Given the description of an element on the screen output the (x, y) to click on. 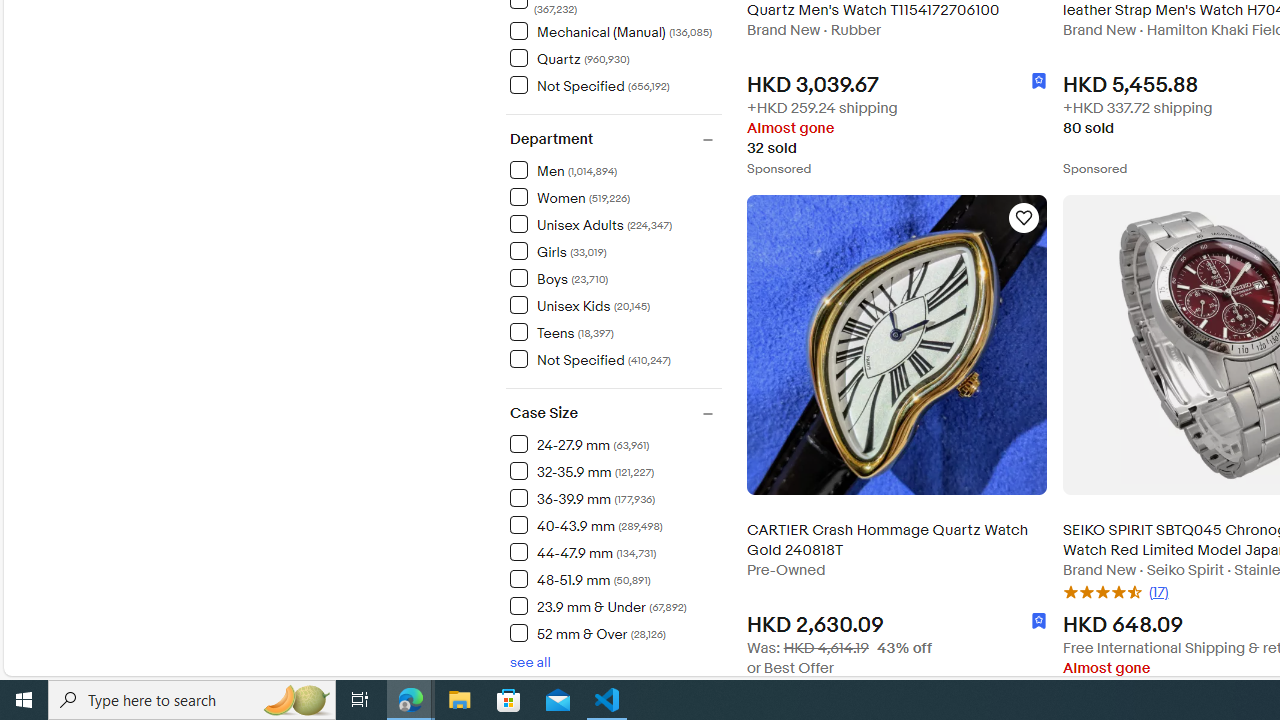
Teens(18,397) Items (615, 331)
